Given the description of an element on the screen output the (x, y) to click on. 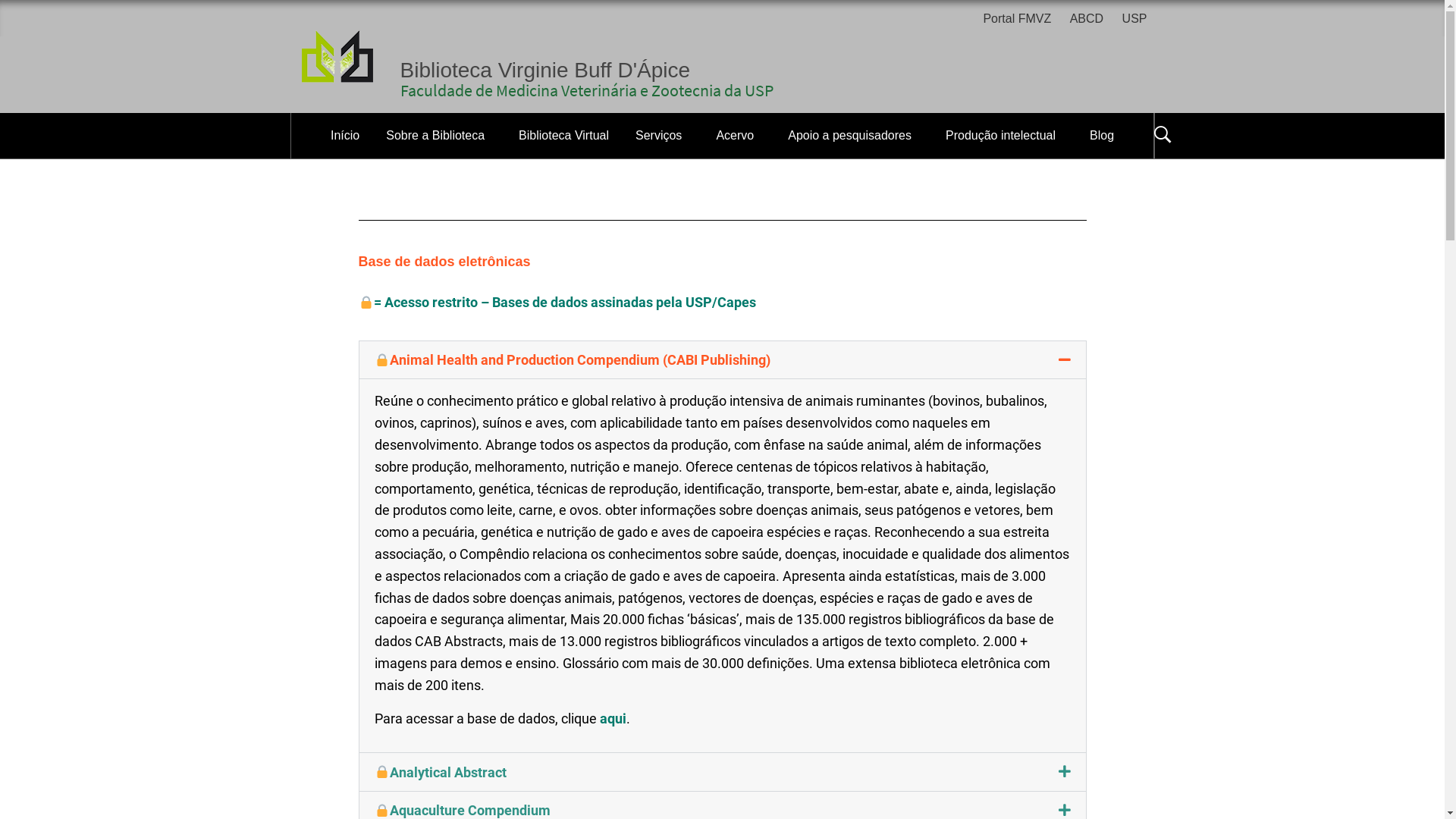
USP Element type: text (1134, 19)
Apoio a pesquisadores Element type: text (853, 135)
Pesquisar Element type: text (797, 33)
ABCD Element type: text (1086, 19)
aqui Element type: text (612, 718)
Biblioteca Virtual Element type: text (563, 135)
Portal FMVZ Element type: text (1020, 19)
Animal Health and Production Compendium (CABI Publishing) Element type: text (572, 359)
Aquaculture Compendium Element type: text (462, 810)
Sobre a Biblioteca Element type: text (438, 135)
Analytical Abstract Element type: text (440, 772)
Blog Element type: text (1101, 135)
Acervo Element type: text (738, 135)
